Given the description of an element on the screen output the (x, y) to click on. 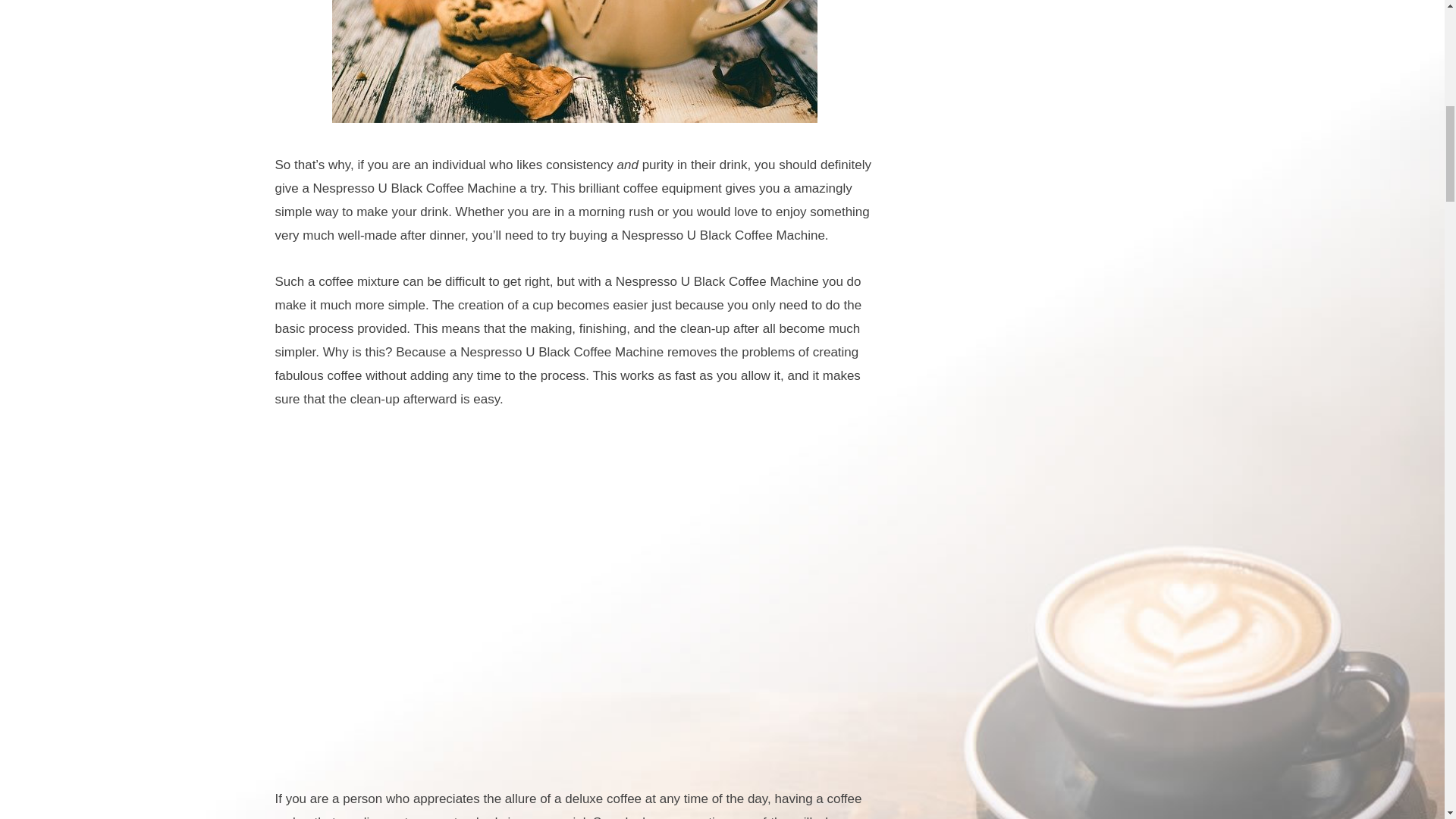
Types Of Coffee Macchiato (573, 61)
